Given the description of an element on the screen output the (x, y) to click on. 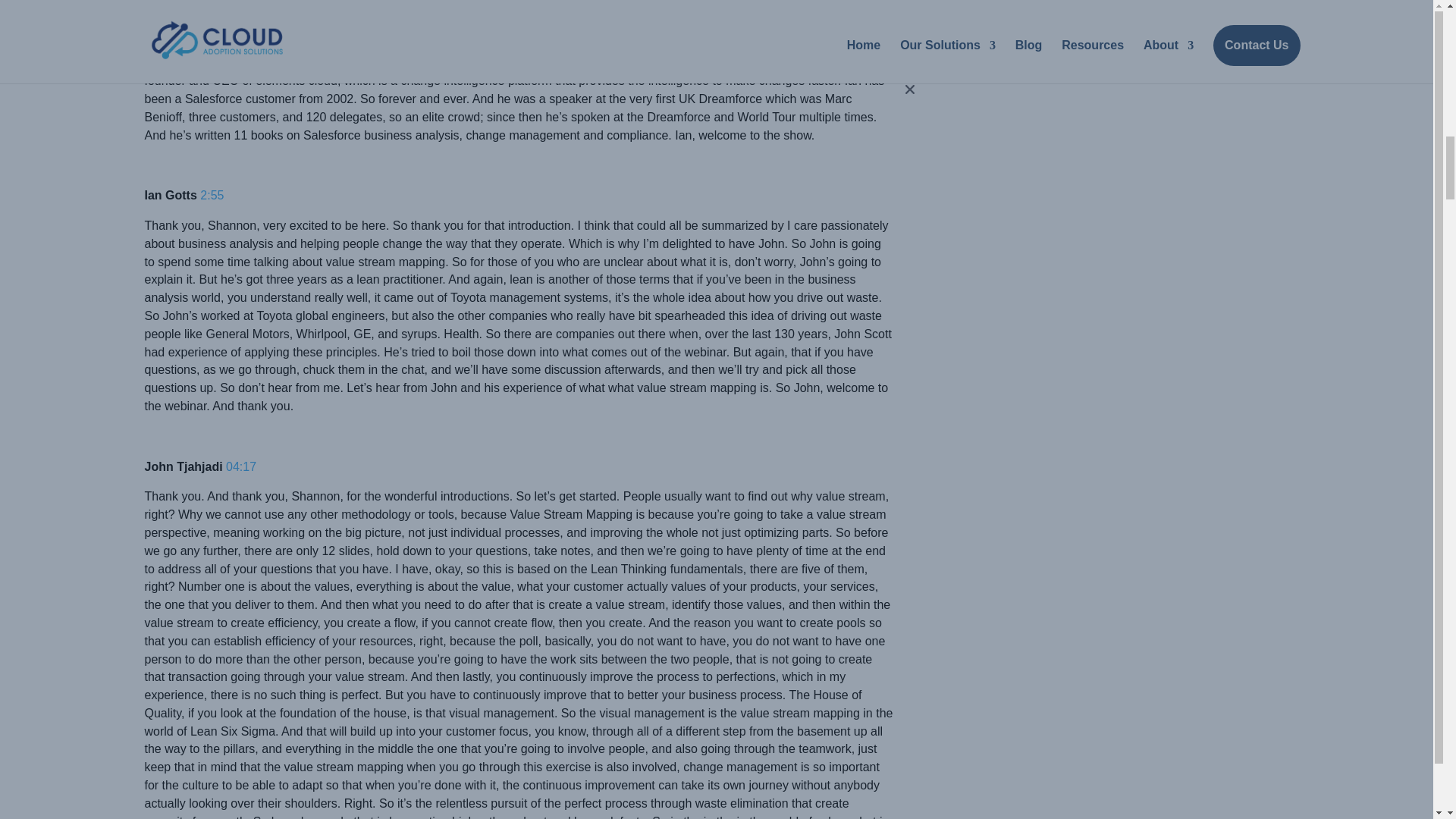
04:17 (240, 466)
2:55 (212, 195)
